Given the description of an element on the screen output the (x, y) to click on. 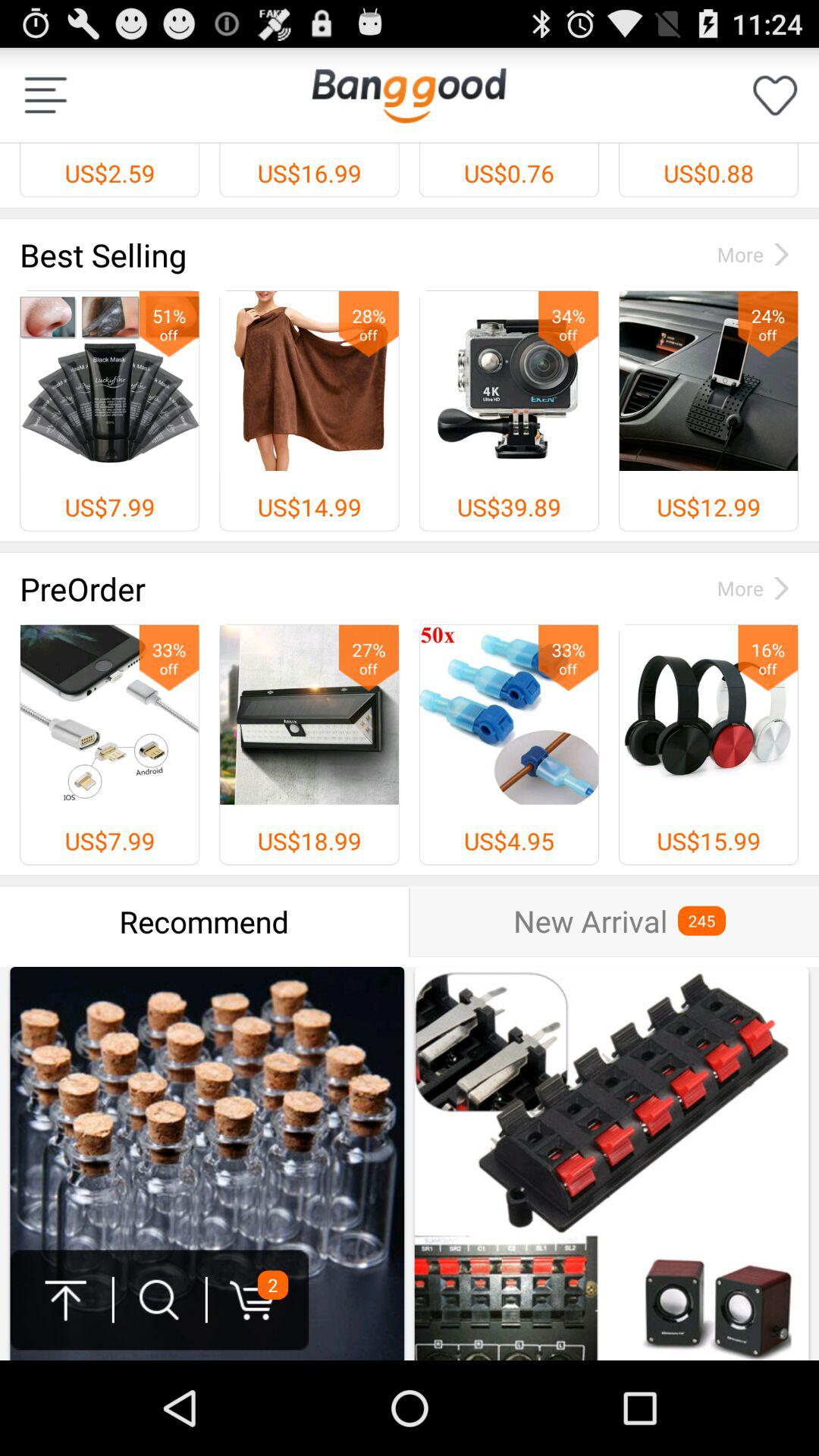
turn on app next to the us$2.59 (409, 95)
